Given the description of an element on the screen output the (x, y) to click on. 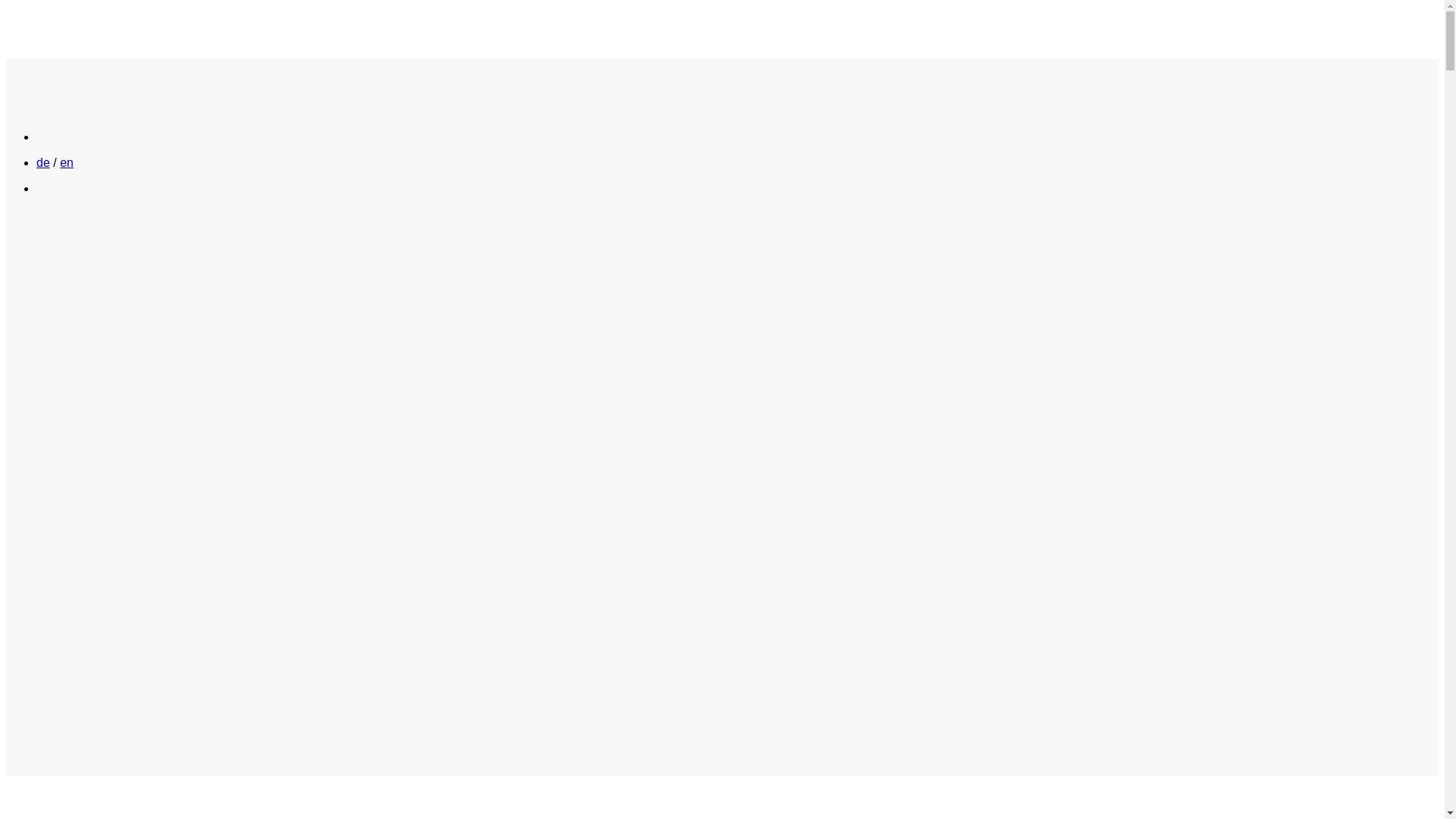
de Element type: text (43, 162)
en Element type: text (66, 162)
Zum Inhalt springen Element type: text (5, 5)
